Given the description of an element on the screen output the (x, y) to click on. 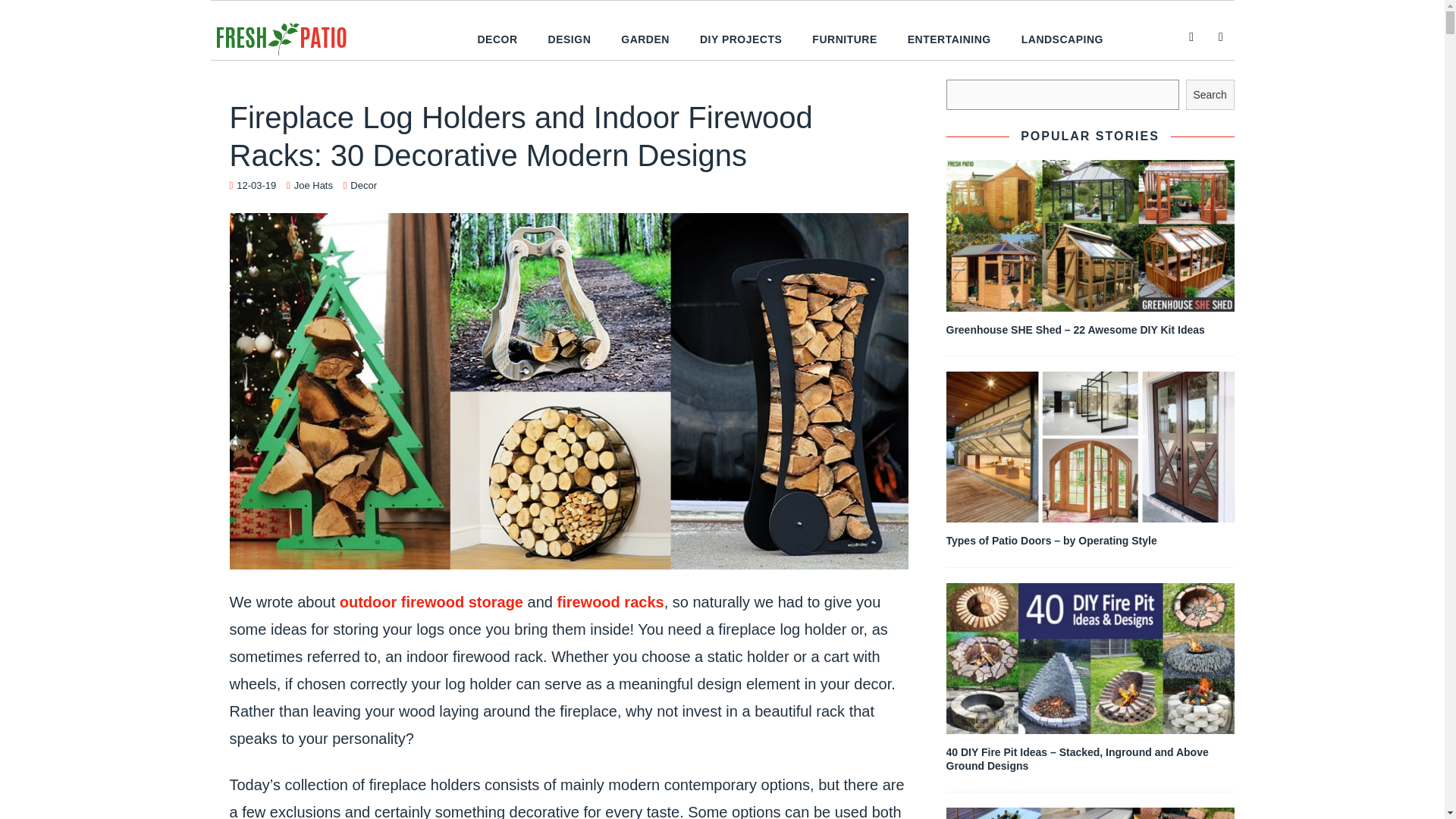
DESIGN (569, 39)
FURNITURE (843, 39)
outdoor firewood storage (430, 601)
ENTERTAINING (949, 39)
DECOR (497, 39)
GARDEN (644, 39)
Decor (363, 184)
Joe Hats (313, 184)
LANDSCAPING (1062, 39)
firewood racks (609, 601)
DIY PROJECTS (740, 39)
